Given the description of an element on the screen output the (x, y) to click on. 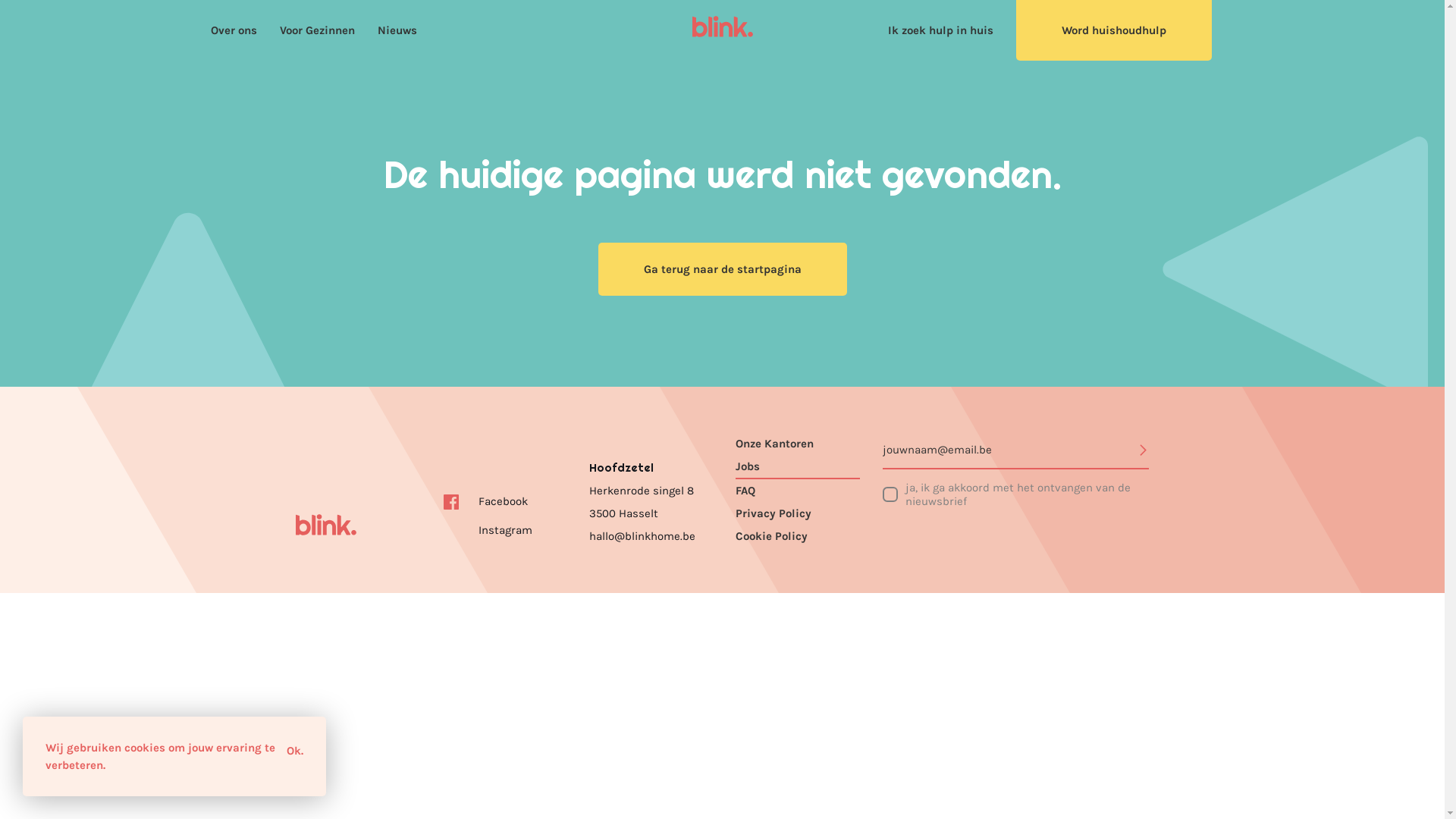
Jobs Element type: text (797, 467)
Word huishoudhulp Element type: text (1113, 30)
FAQ Element type: text (797, 490)
Ga terug naar de startpagina Element type: text (721, 268)
Voor Gezinnen Element type: text (316, 29)
Nieuws Element type: text (397, 29)
Ok. Element type: text (294, 750)
Privacy Policy Element type: text (797, 513)
Instagram Element type: text (487, 529)
Cookie Policy Element type: text (797, 535)
Herkenrode singel 8 3500 Hasselt Element type: text (650, 501)
Over ons Element type: text (233, 29)
Onze Kantoren Element type: text (797, 443)
Ik zoek hulp in huis Element type: text (939, 29)
Facebook Element type: text (484, 500)
hallo@blinkhome.be Element type: text (642, 535)
